Given the description of an element on the screen output the (x, y) to click on. 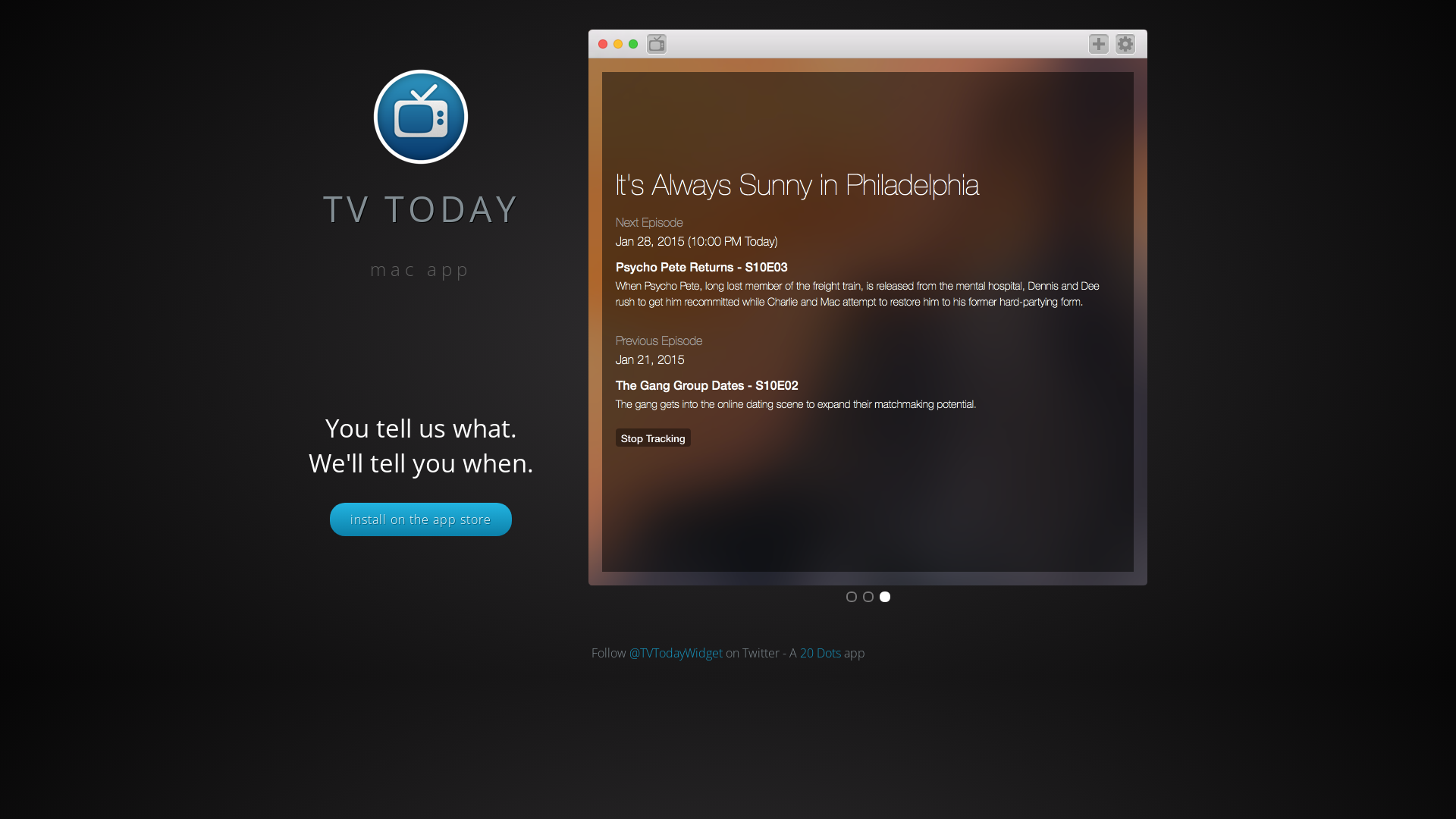
20 Dots Element type: text (819, 652)
install on the app store Element type: text (420, 519)
@TVTodayWidget Element type: text (675, 652)
